Given the description of an element on the screen output the (x, y) to click on. 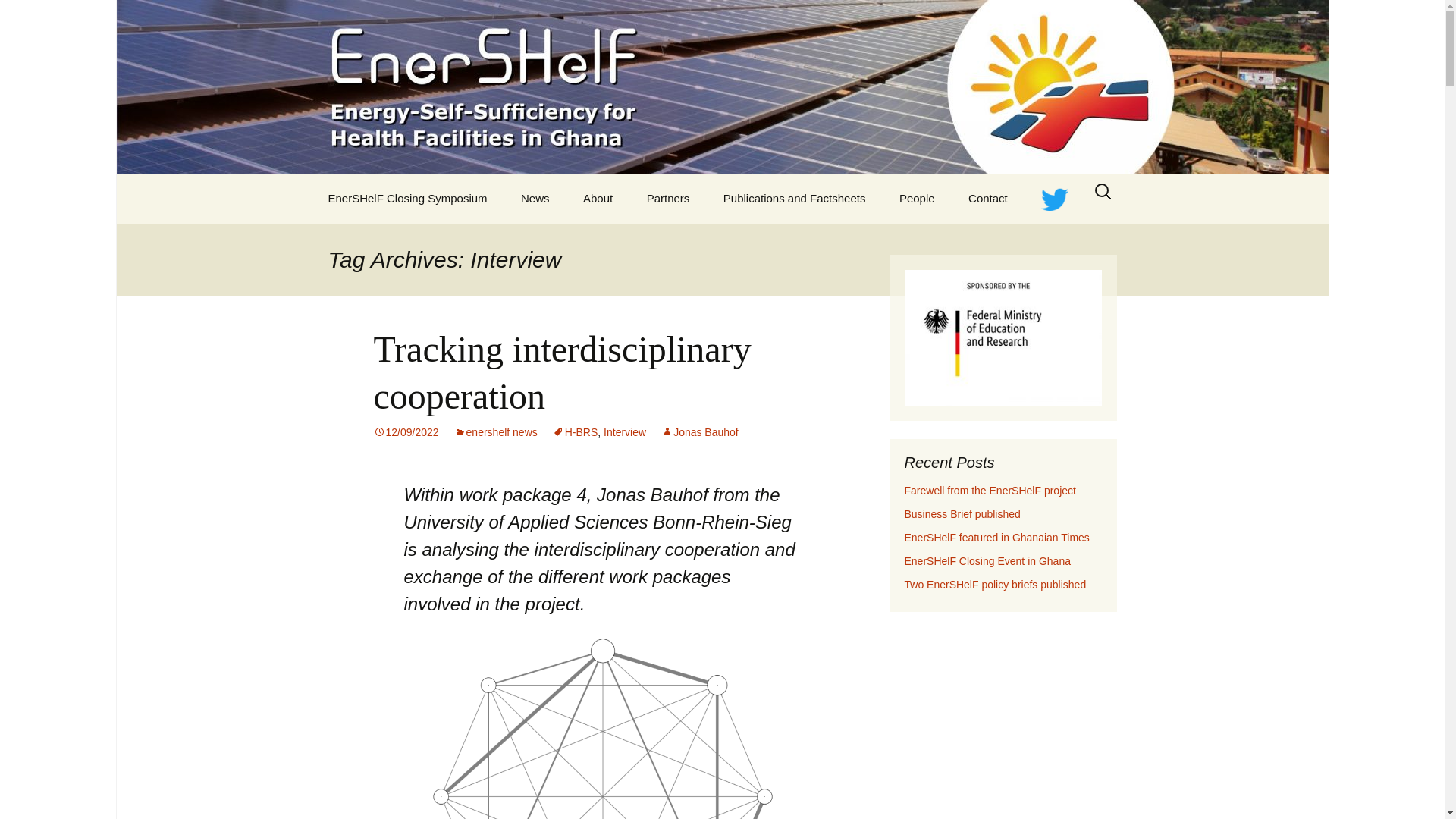
EnerSHelF Closing Symposium (407, 197)
View all posts by Jonas Bauhof (699, 431)
Tracking interdisciplinary cooperation (561, 372)
News (534, 197)
Permalink to Tracking interdisciplinary cooperation (405, 431)
About (597, 197)
Publications and Factsheets (793, 197)
Interview (625, 431)
People (916, 197)
